Given the description of an element on the screen output the (x, y) to click on. 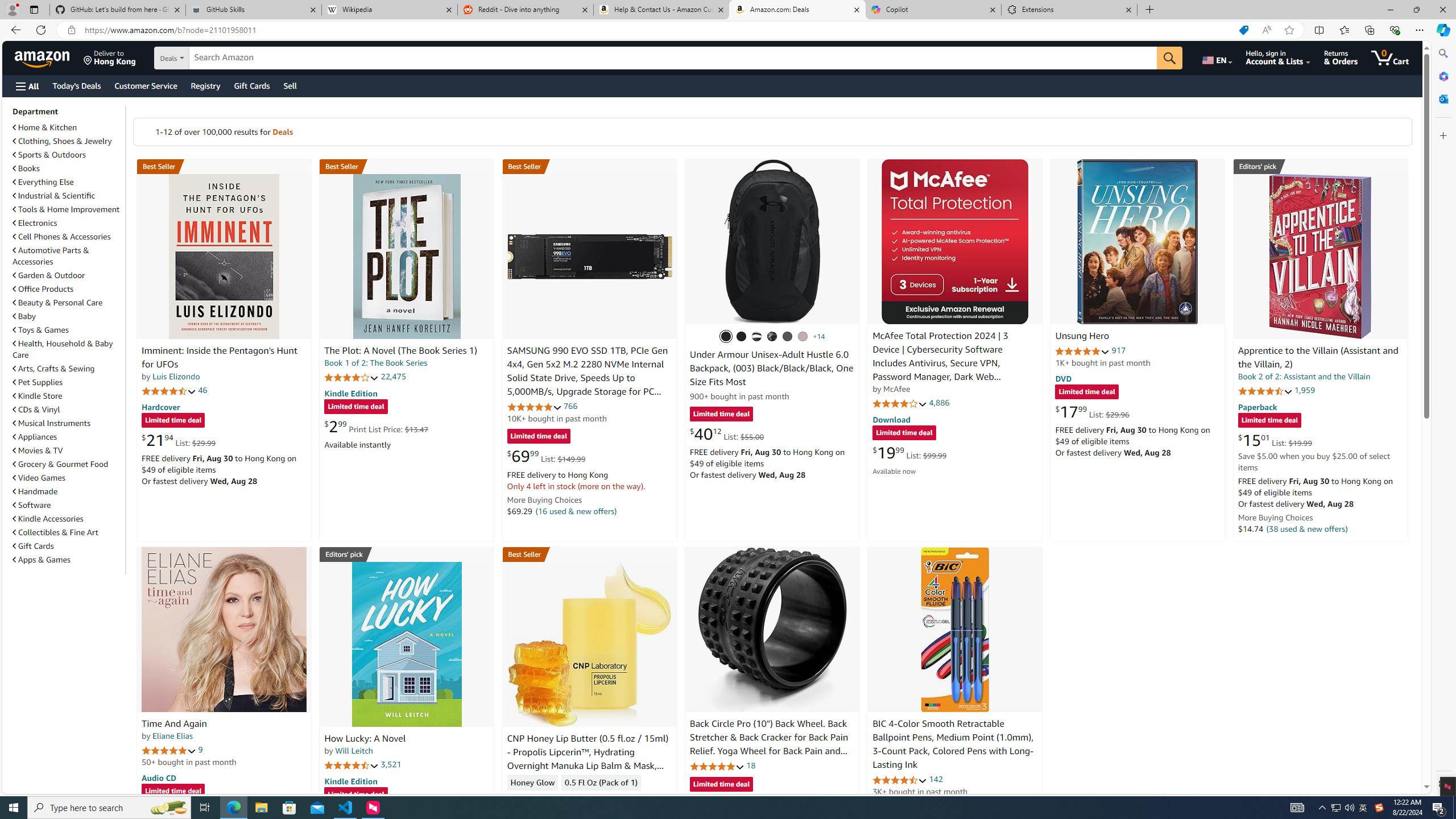
Audio CD (158, 777)
Amazon.com: Deals (797, 9)
Arts, Crafts & Sewing (53, 368)
4.8 out of 5 stars (716, 766)
Tools & Home Improvement (66, 208)
Apprentice to the Villain (Assistant and the Villain, 2) (1318, 358)
Best Seller in Internal Solid State Drives (589, 165)
Books (26, 167)
Time And Again (173, 723)
Clothing, Shoes & Jewelry (67, 140)
Appliances (34, 436)
Skip to main content (48, 56)
Beauty & Personal Care (58, 302)
(16 used & new offers) (576, 511)
